Given the description of an element on the screen output the (x, y) to click on. 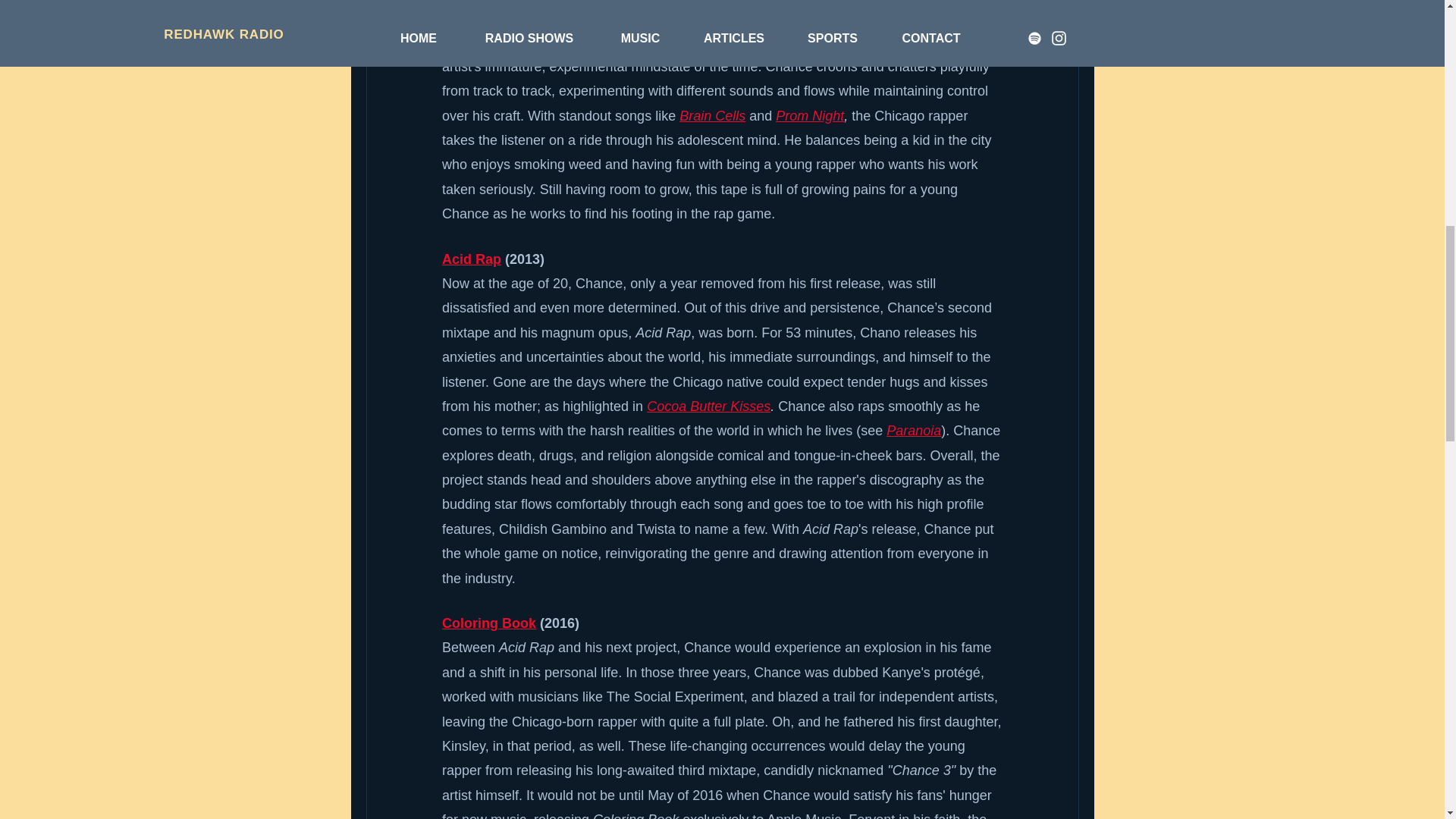
Brain Cells (712, 115)
10 Day (462, 0)
Acid Rap (470, 258)
Cocoa Butter Kisses (708, 406)
Coloring Book (488, 622)
Paranoia (913, 430)
Prom Night (810, 115)
